Given the description of an element on the screen output the (x, y) to click on. 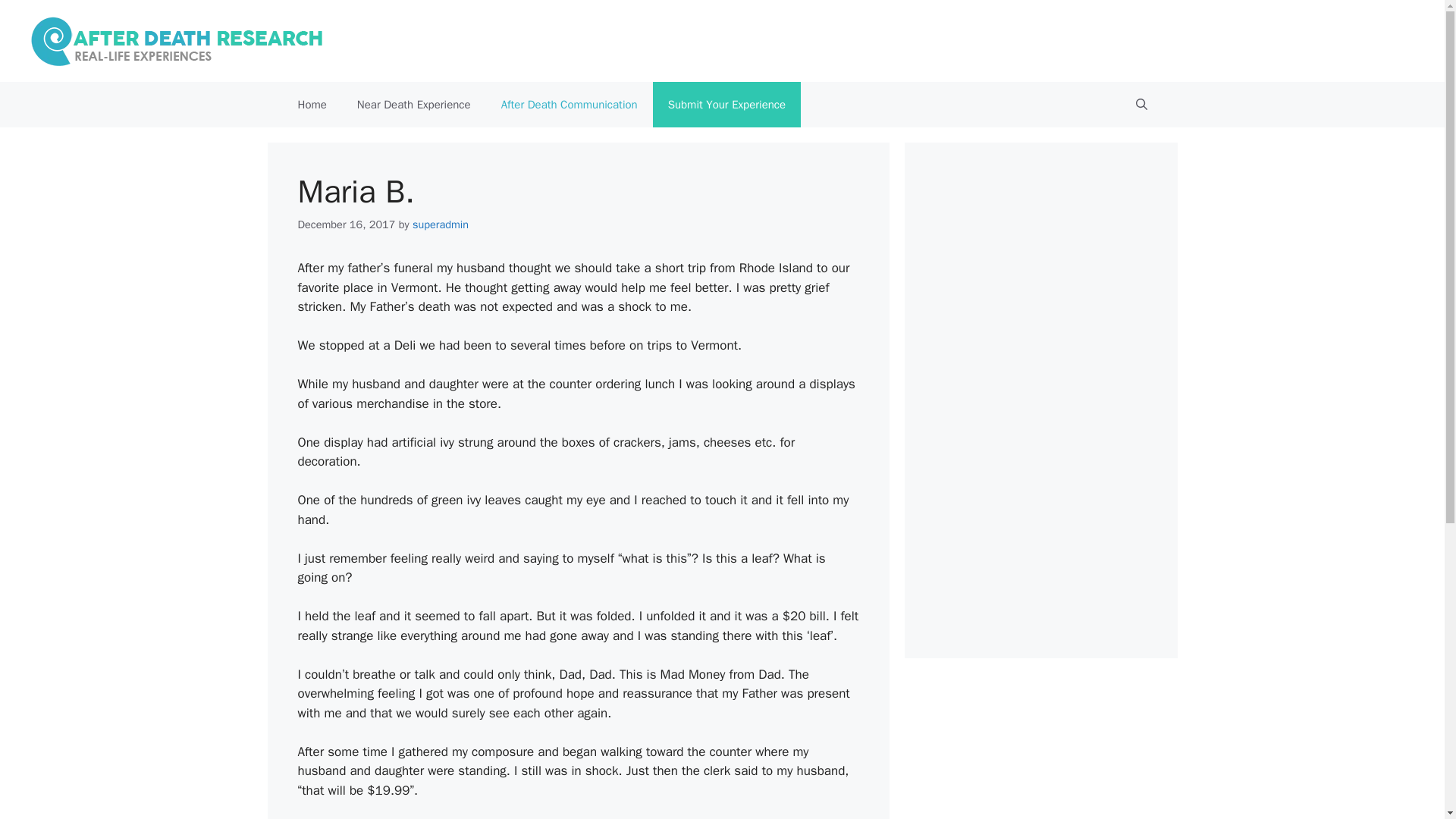
Submit Your Experience (726, 104)
superadmin (440, 223)
Home (311, 104)
Near Death Experience (414, 104)
After Death Communication (569, 104)
View all posts by superadmin (440, 223)
